Given the description of an element on the screen output the (x, y) to click on. 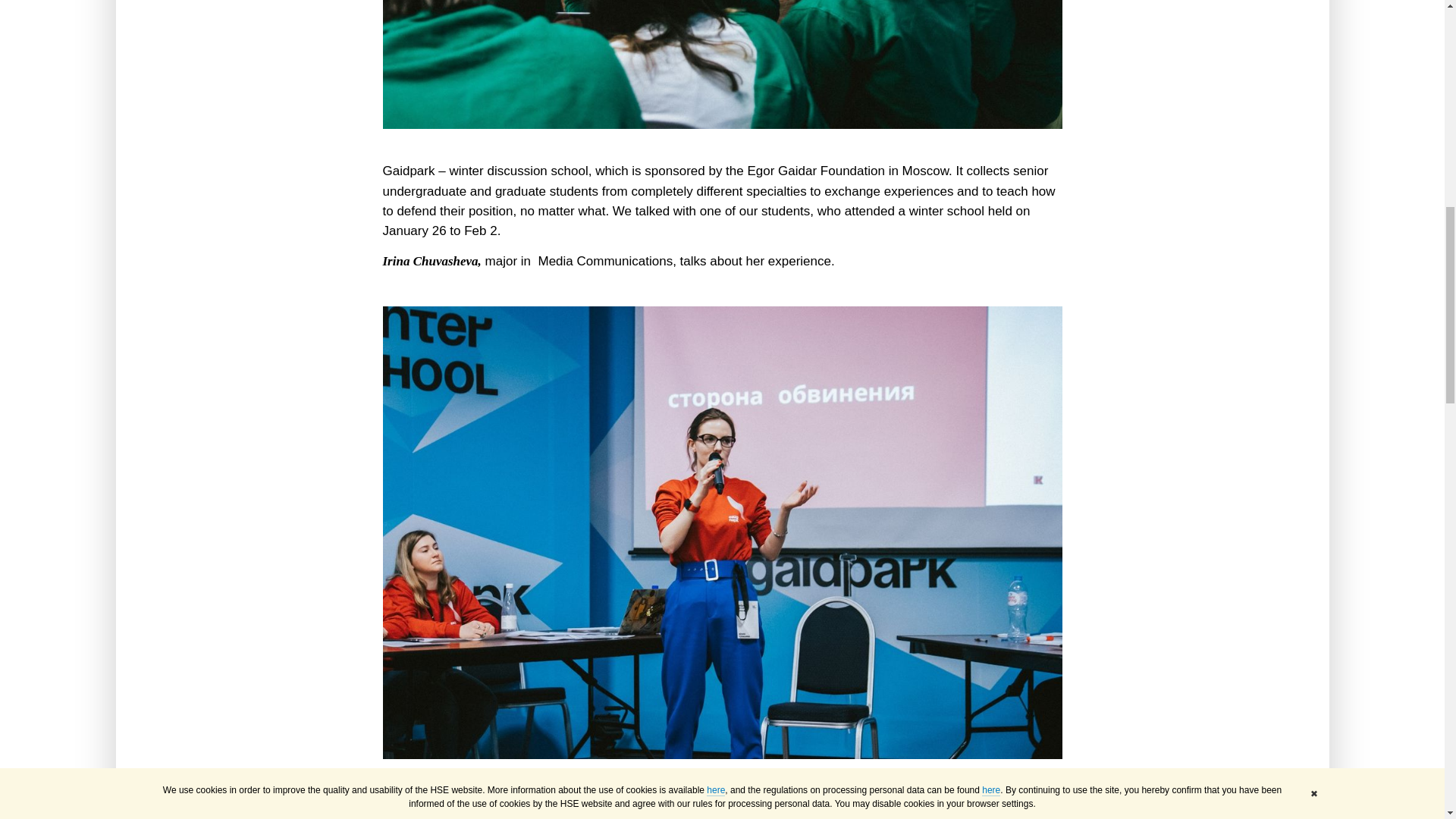
Gaidpark: Debates Of The Life (721, 64)
